Given the description of an element on the screen output the (x, y) to click on. 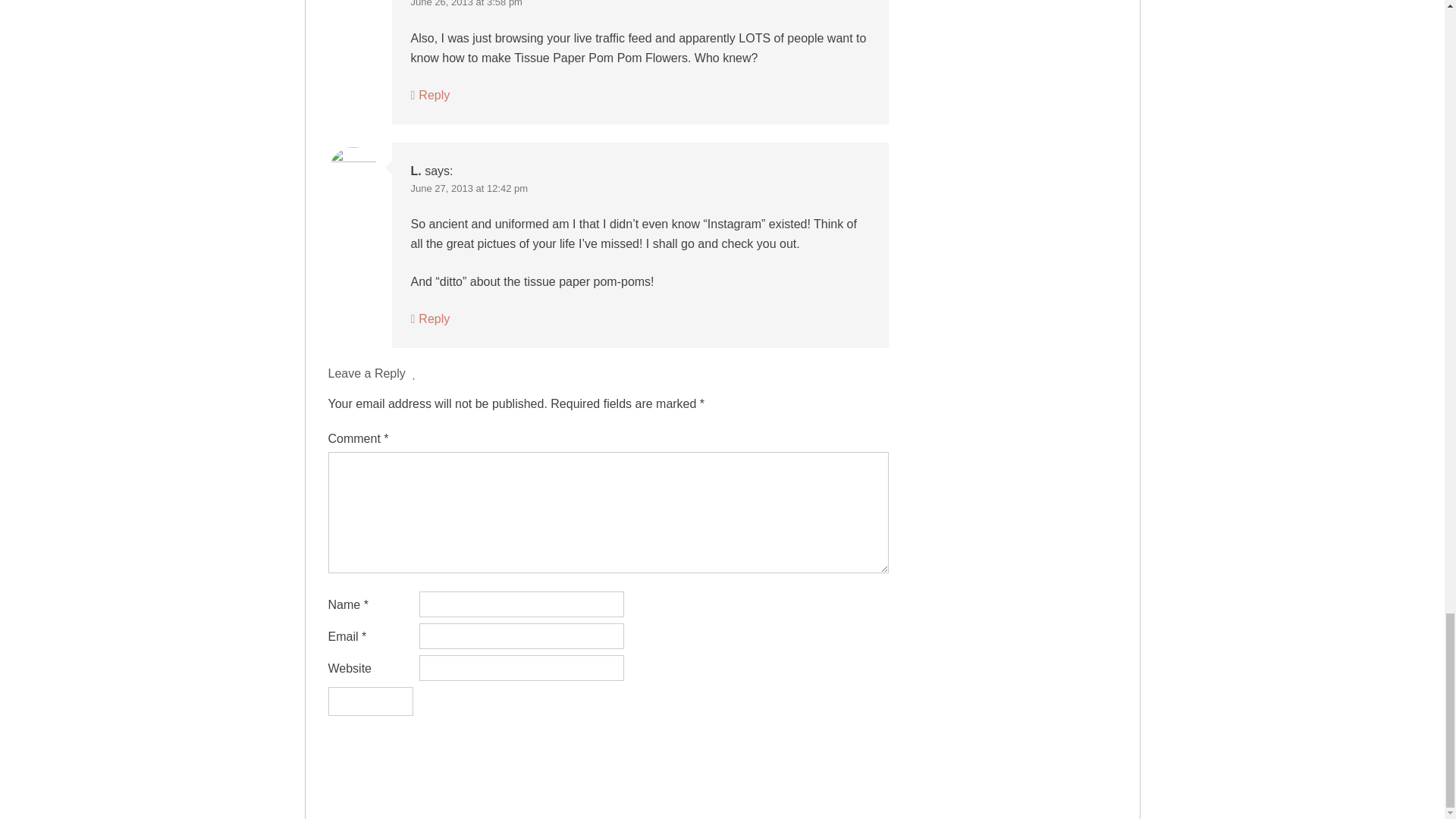
Post Comment (369, 701)
June 27, 2013 at 12:42 pm (469, 188)
Reply (429, 318)
Reply (429, 94)
Post Comment (369, 701)
June 26, 2013 at 3:58 pm (466, 3)
